Given the description of an element on the screen output the (x, y) to click on. 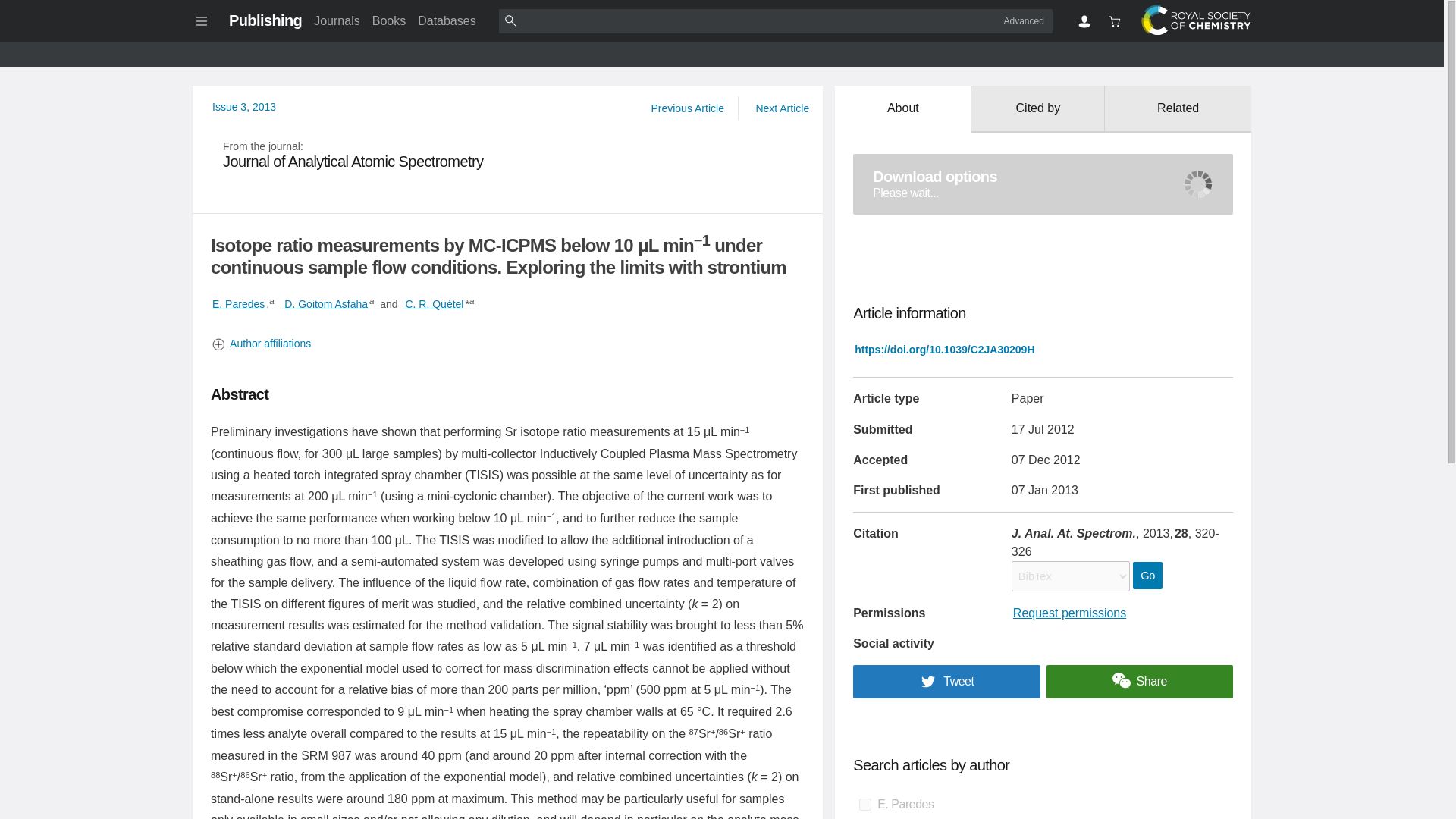
Share (1139, 681)
Publishing home page (264, 20)
Author affiliations (508, 343)
E. Paredes (238, 304)
Go (508, 155)
Link to landing page via DOI (1146, 574)
Related (944, 349)
Request permissions (1177, 108)
Books (1068, 612)
D. Goitom Asfaha (389, 20)
Publishing (1043, 183)
Go (325, 304)
Issue 3, 2013 (264, 20)
